Given the description of an element on the screen output the (x, y) to click on. 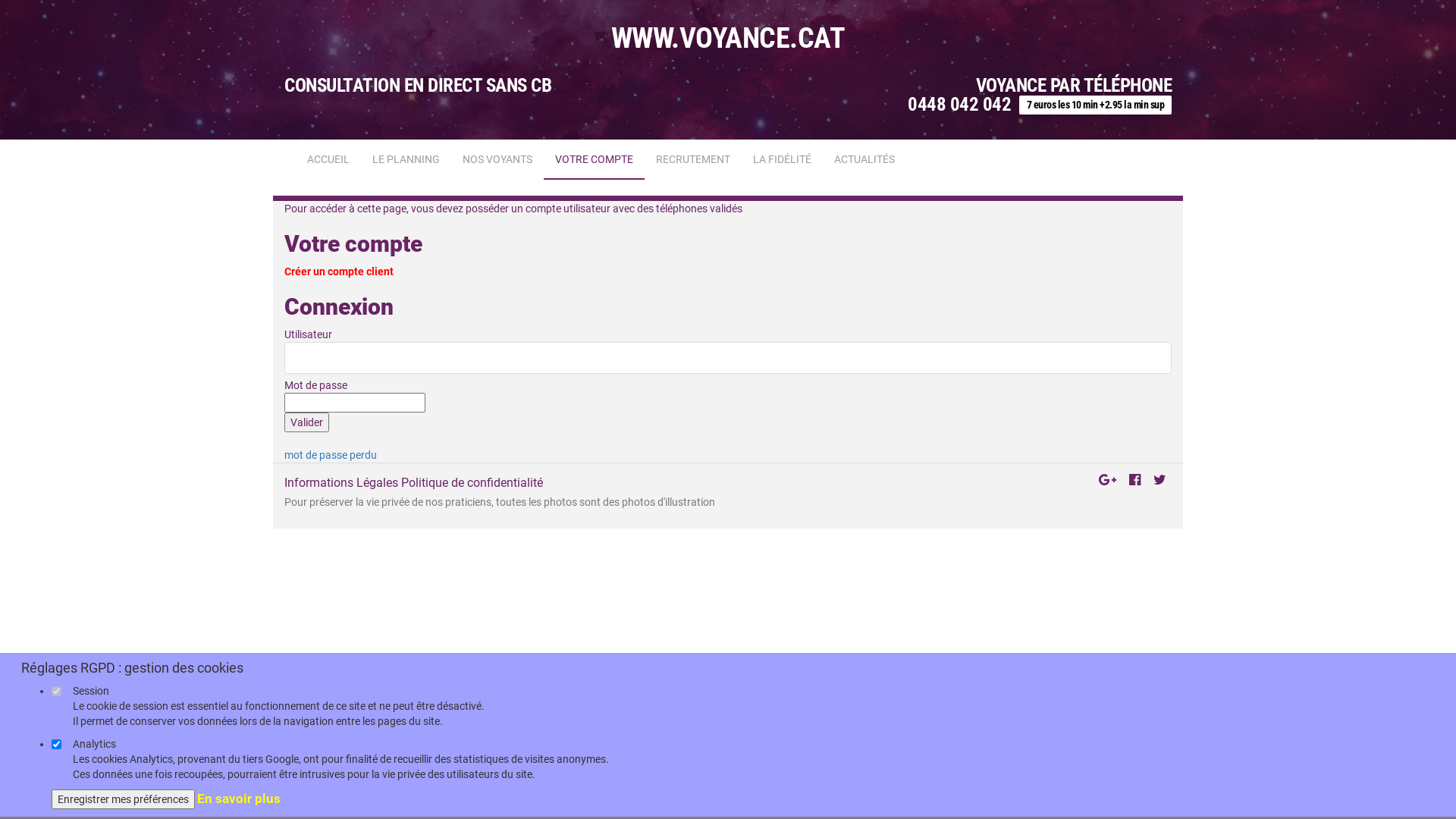
LE PLANNING Element type: text (405, 159)
WWW.VOYANCE.CAT Element type: text (727, 37)
En savoir plus Element type: text (238, 798)
NOS VOYANTS Element type: text (497, 159)
RECRUTEMENT Element type: text (692, 159)
ACCUEIL Element type: text (327, 159)
mot de passe perdu Element type: text (330, 454)
Valider Element type: text (306, 422)
VOTRE COMPTE Element type: text (593, 159)
